Given the description of an element on the screen output the (x, y) to click on. 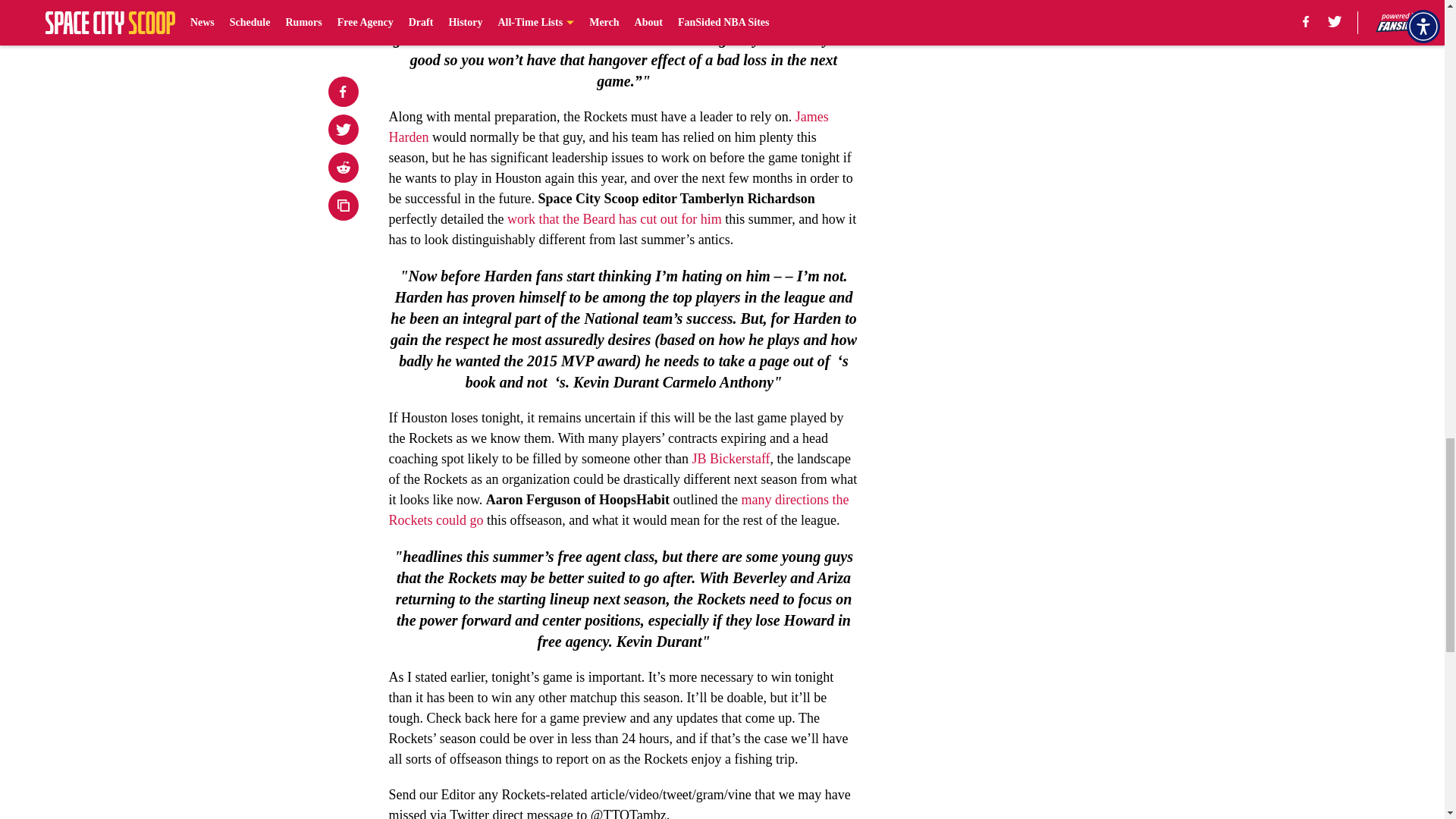
James Harden (608, 126)
JB Bickerstaff (730, 458)
many directions the Rockets could go (618, 509)
work that the Beard has cut out for him (614, 218)
